Given the description of an element on the screen output the (x, y) to click on. 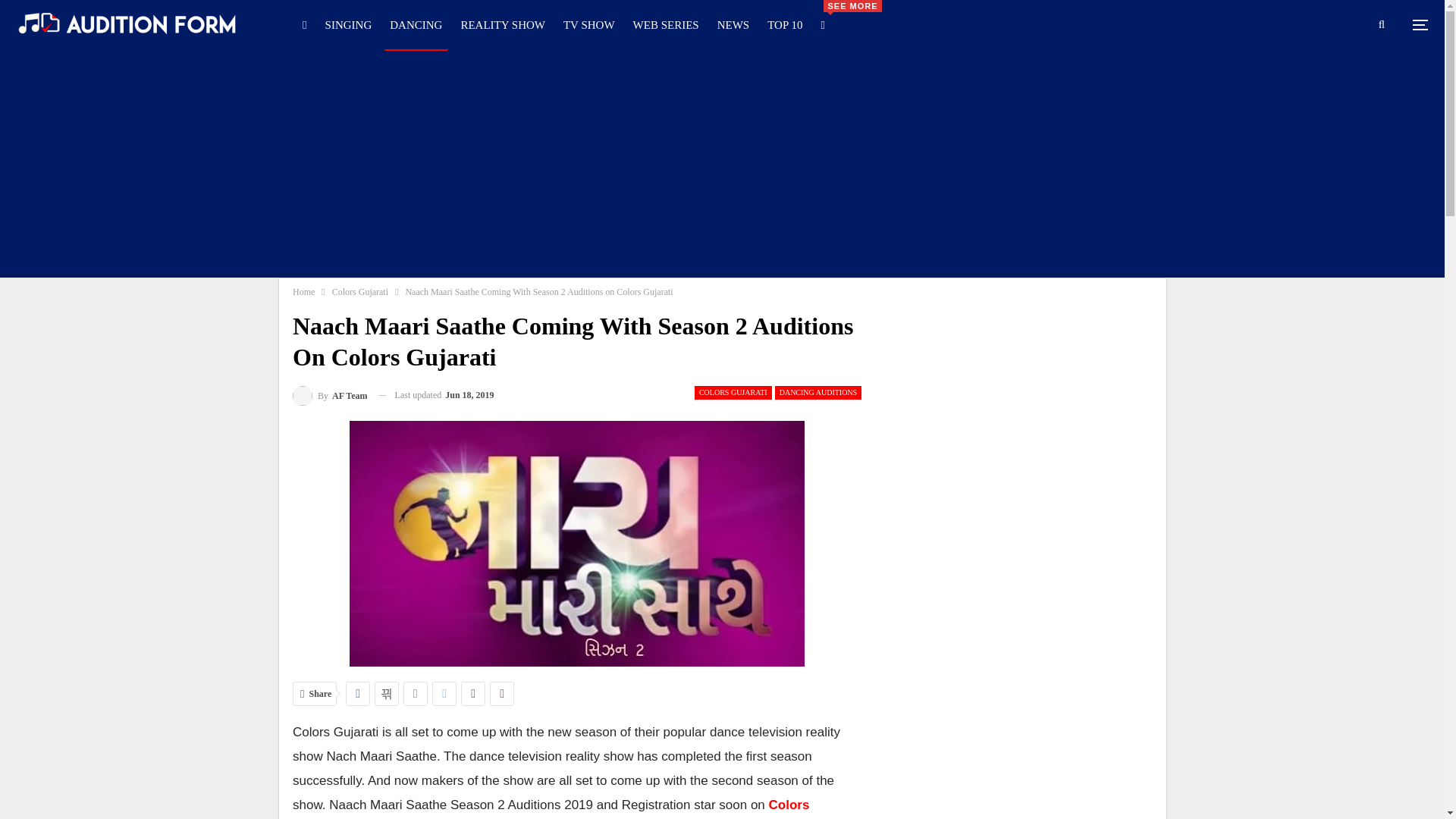
REALITY SHOW (502, 24)
Home (303, 291)
TV SHOW (588, 24)
By AF Team (330, 394)
Colors Gujarati (359, 291)
SINGING (348, 24)
DANCING AUDITIONS (817, 392)
WEB SERIES (665, 24)
DANCING (415, 24)
